Given the description of an element on the screen output the (x, y) to click on. 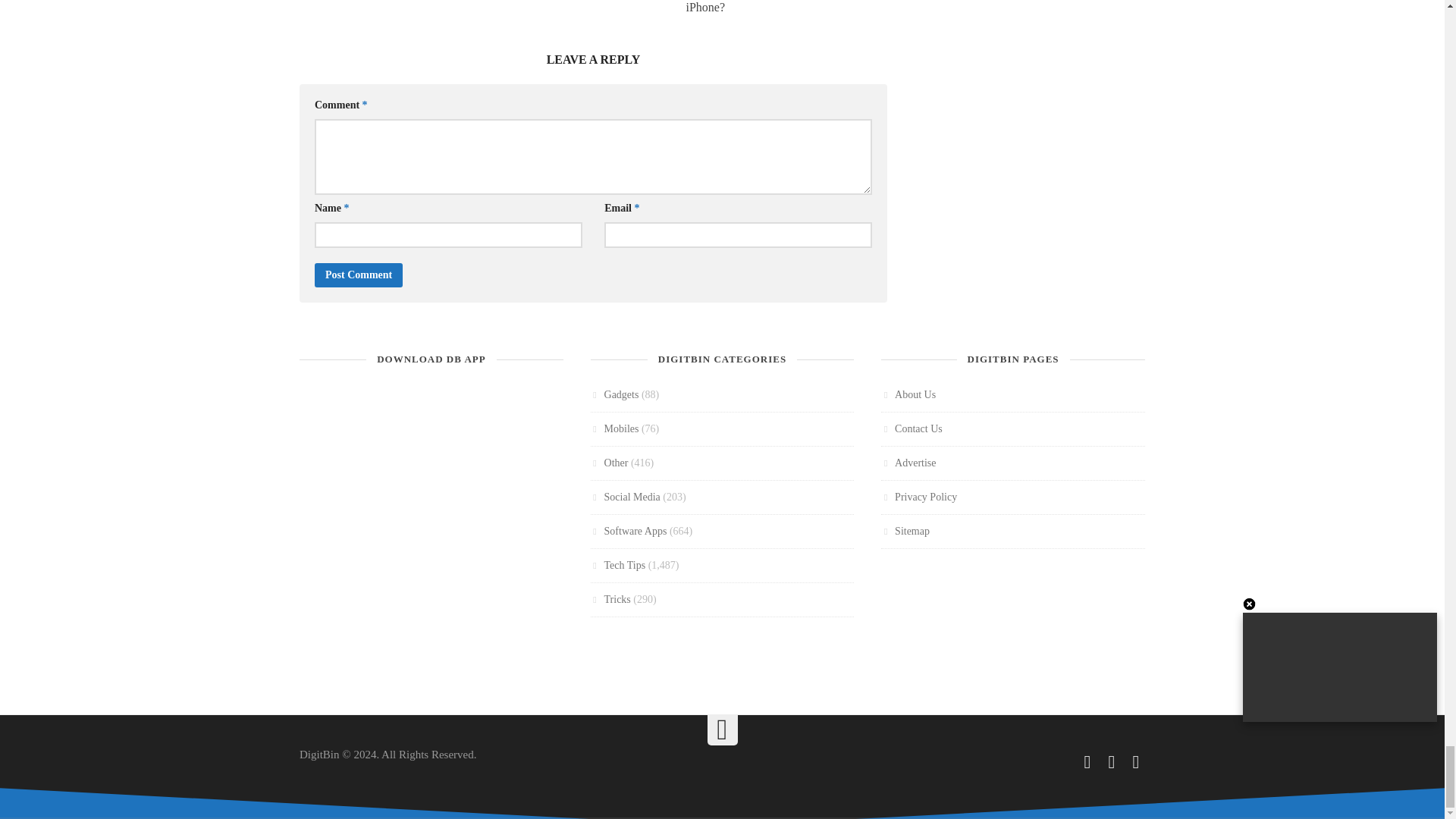
Post Comment (358, 274)
